Given the description of an element on the screen output the (x, y) to click on. 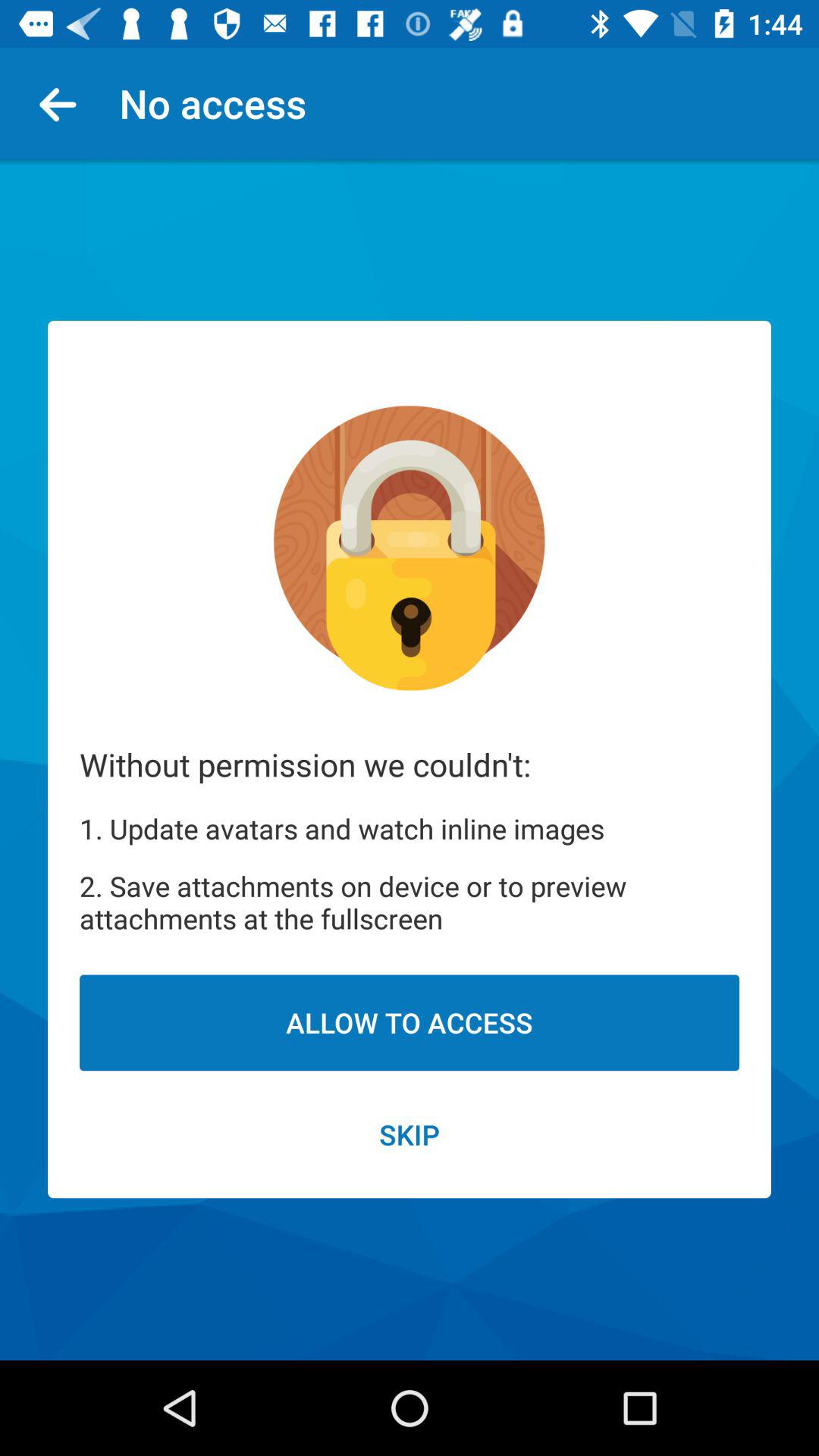
press app to the left of no access app (63, 103)
